Given the description of an element on the screen output the (x, y) to click on. 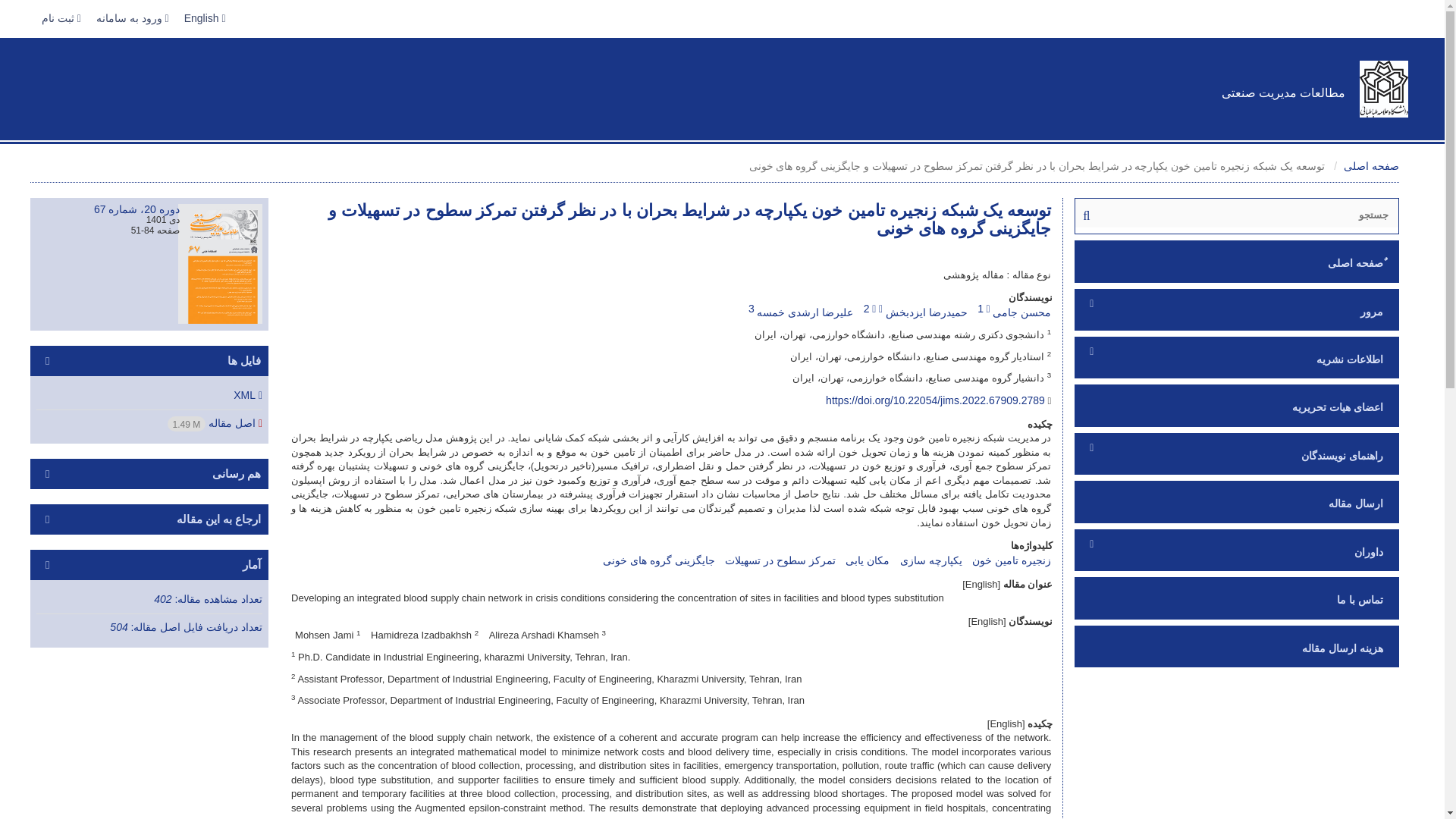
English (204, 18)
